Given the description of an element on the screen output the (x, y) to click on. 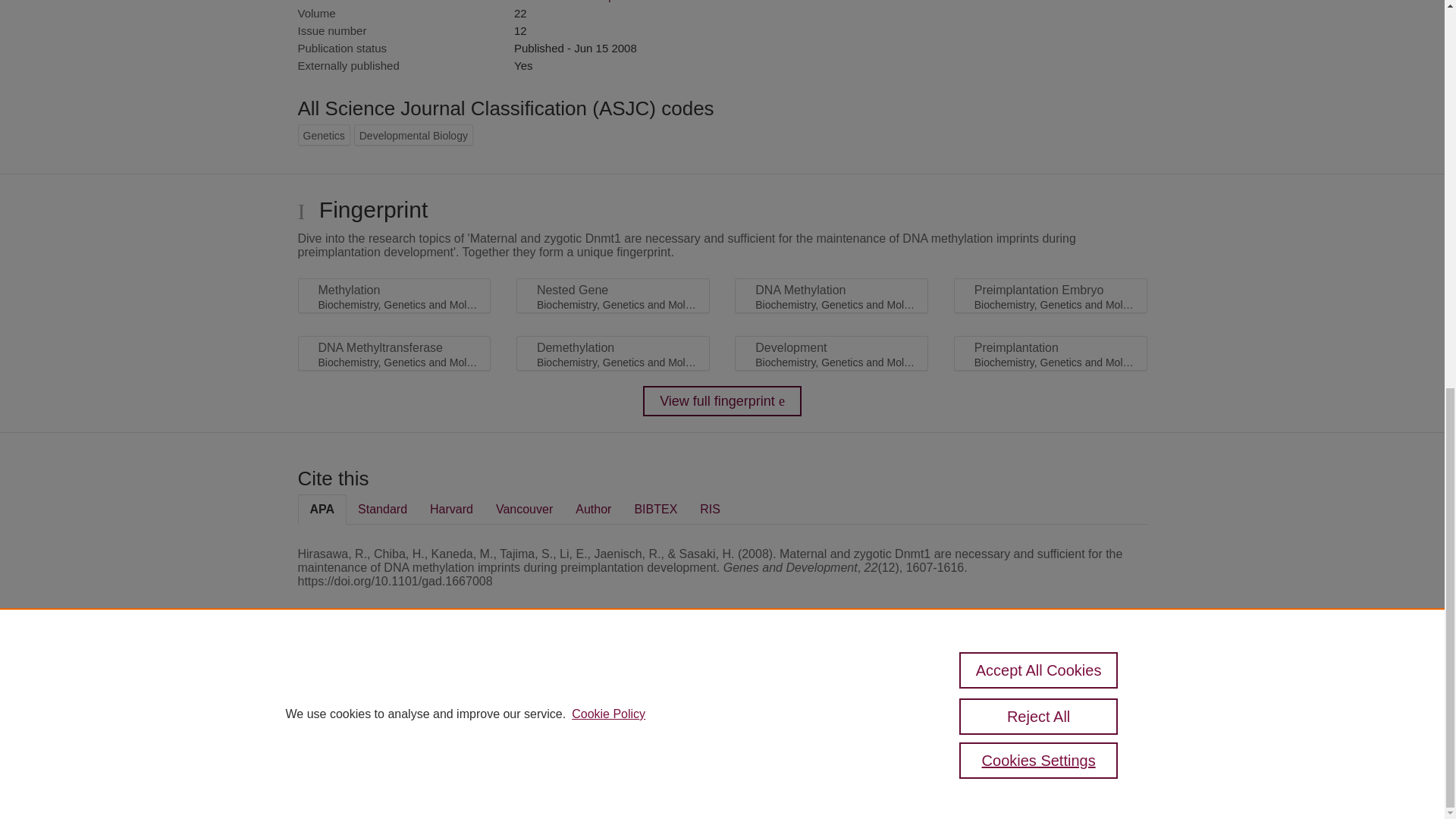
View full fingerprint (722, 400)
Genes and Development (576, 1)
Elsevier B.V. (506, 707)
Pure (362, 686)
Scopus (394, 686)
use of cookies (796, 739)
